Given the description of an element on the screen output the (x, y) to click on. 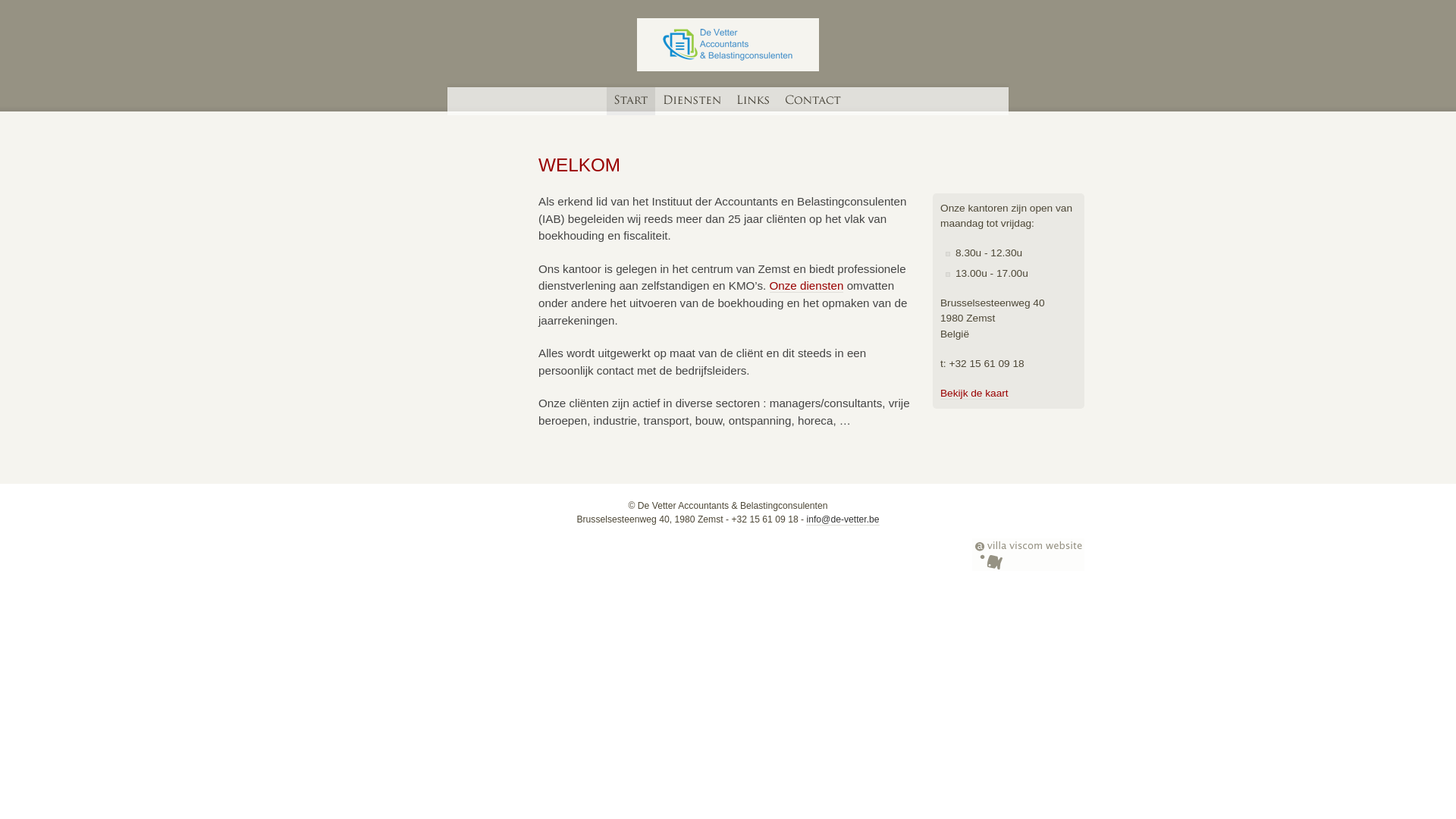
Start Element type: text (630, 101)
Diensten Element type: text (692, 101)
Bekijk de kaart Element type: text (974, 393)
Onze diensten Element type: text (805, 285)
info@de-vetter.be Element type: text (842, 519)
DE VETTER - ACCOUNTANTS & BELASTINGCONSULENTEN ZEMST Element type: text (728, 44)
Links Element type: text (753, 101)
Contact Element type: text (813, 101)
